Given the description of an element on the screen output the (x, y) to click on. 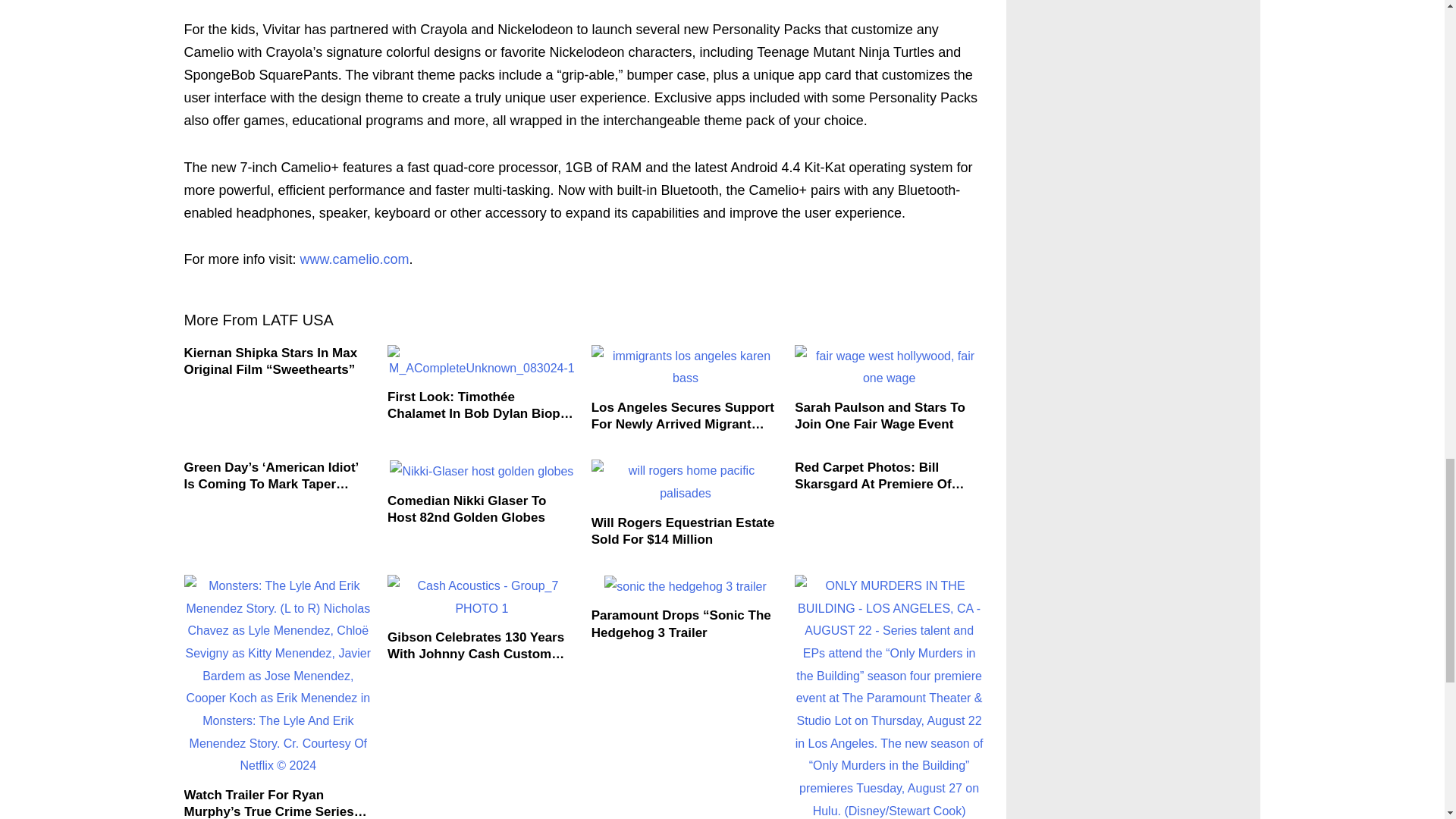
fair wage west hollywood, fair one wage (889, 366)
sonic the hedgehog 3 trailer (684, 586)
will rogers home pacific palisades (685, 481)
immigrants los angeles karen bass (685, 366)
Nikki-Glaser host golden globes (481, 471)
